Given the description of an element on the screen output the (x, y) to click on. 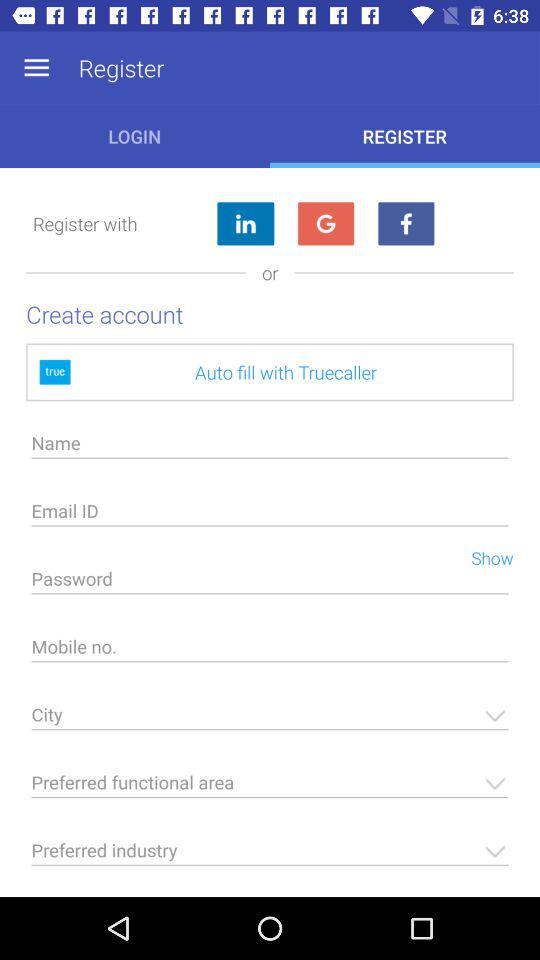
click the icon above the show (269, 516)
